Given the description of an element on the screen output the (x, y) to click on. 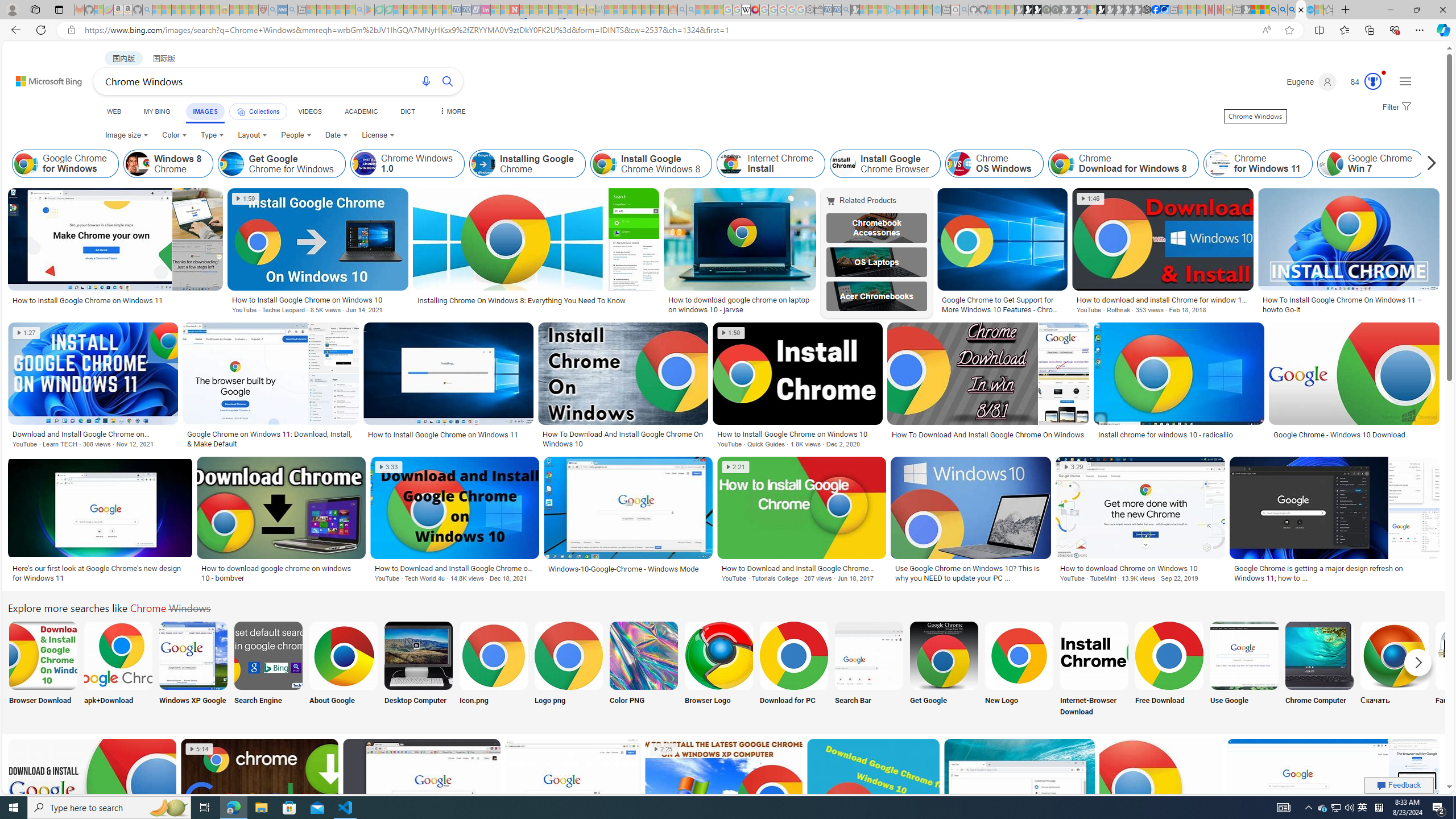
Use Google Chrome (1243, 654)
Chrome Computer (1319, 654)
Microsoft Start - Sleeping (919, 9)
Color (173, 135)
Settings and quick links (1404, 80)
Home | Sky Blue Bikes - Sky Blue Bikes - Sleeping (936, 9)
AutomationID: serp_medal_svg (1372, 81)
How to Install Google Chrome on Windows 10 (797, 433)
Cheap Car Rentals - Save70.com - Sleeping (836, 9)
